Given the description of an element on the screen output the (x, y) to click on. 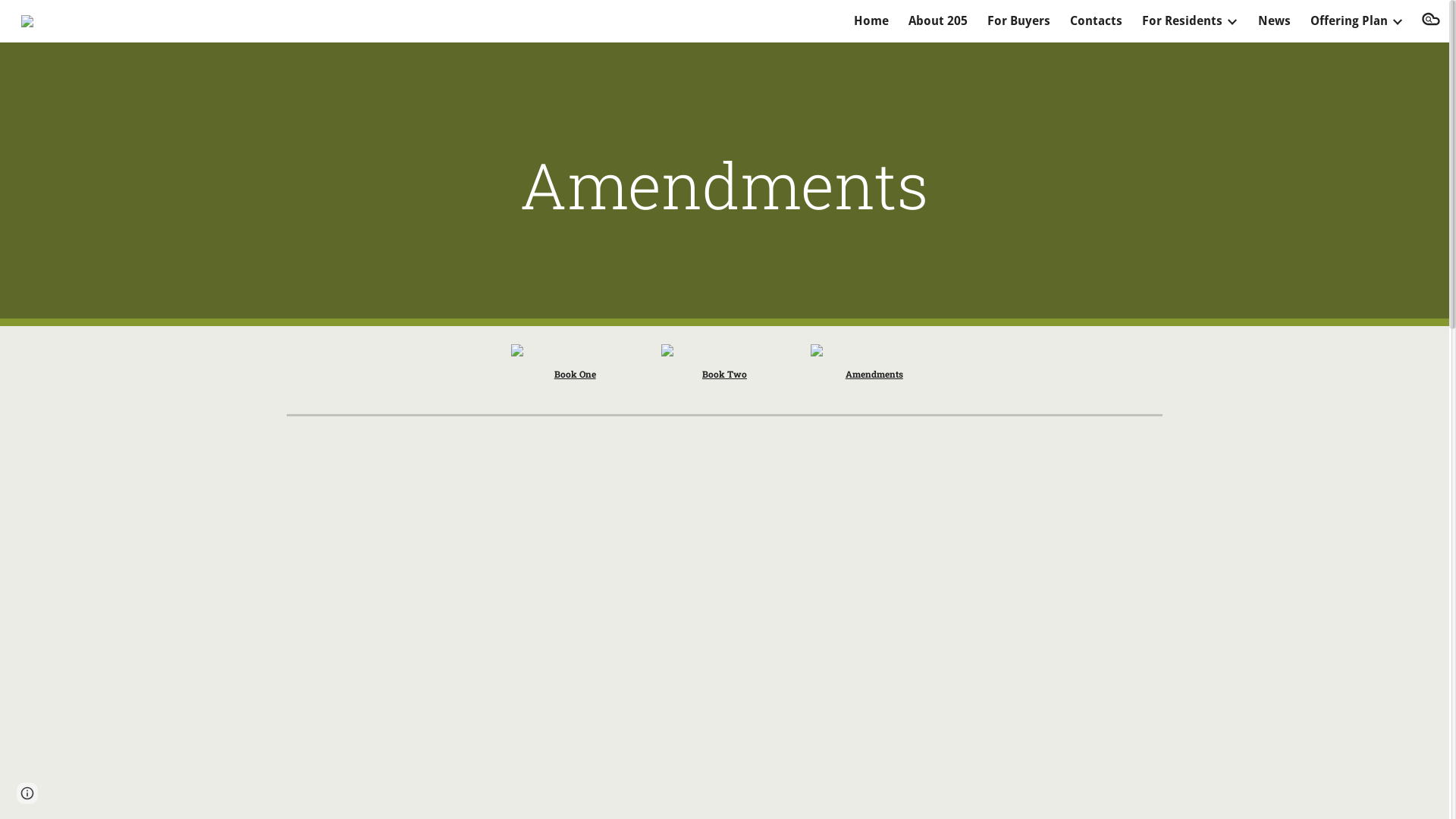
News Element type: text (1274, 20)
Amendments Element type: text (874, 373)
Contacts Element type: text (1096, 20)
For Residents Element type: text (1182, 20)
For Buyers Element type: text (1018, 20)
Expand/Collapse Element type: hover (1396, 20)
About 205 Element type: text (937, 20)
Book Two Element type: text (724, 373)
Expand/Collapse Element type: hover (1231, 20)
Offering Plan Element type: text (1348, 20)
Book One Element type: text (575, 373)
Home Element type: text (870, 20)
